Given the description of an element on the screen output the (x, y) to click on. 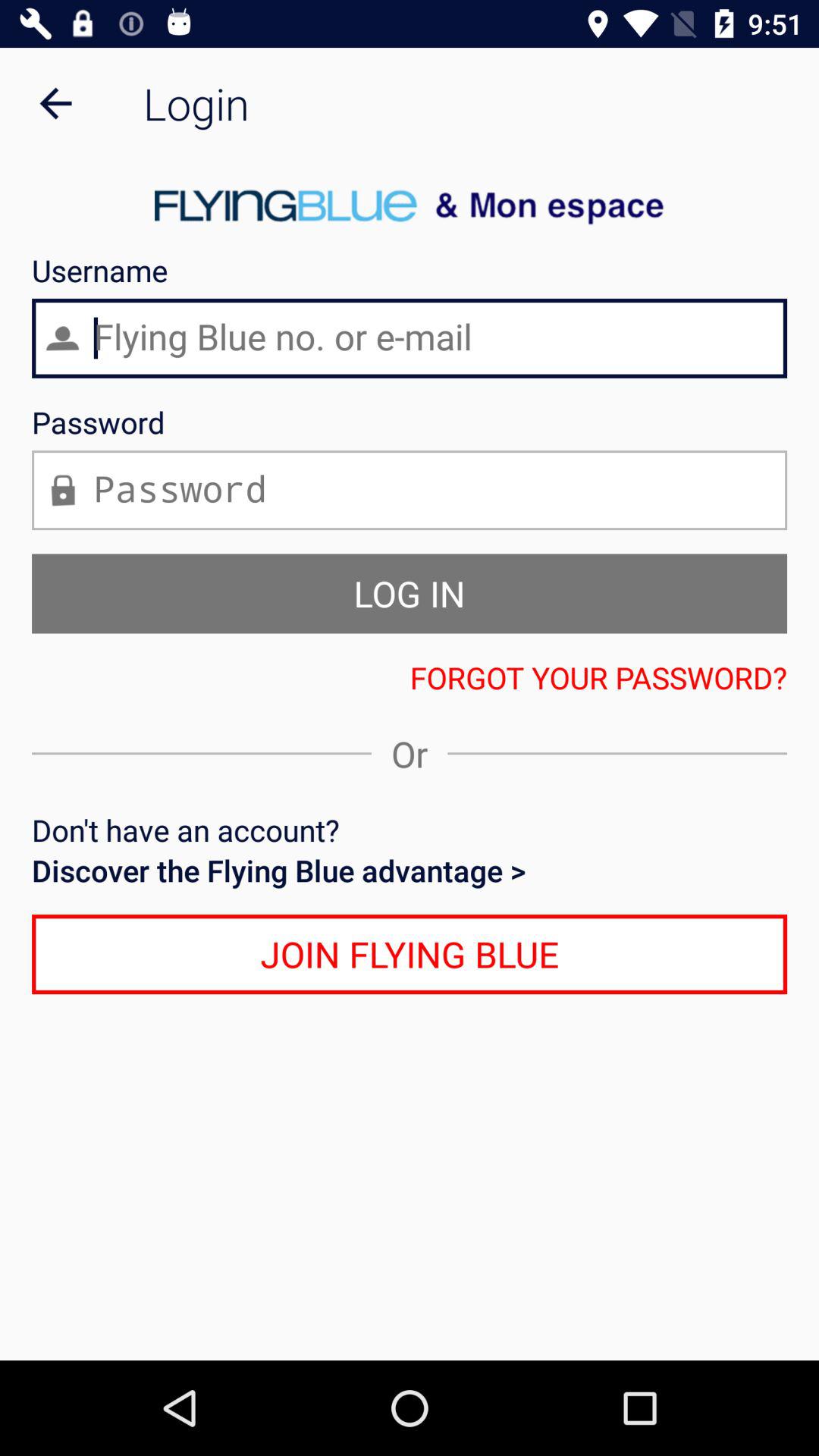
launch the log in (409, 593)
